Given the description of an element on the screen output the (x, y) to click on. 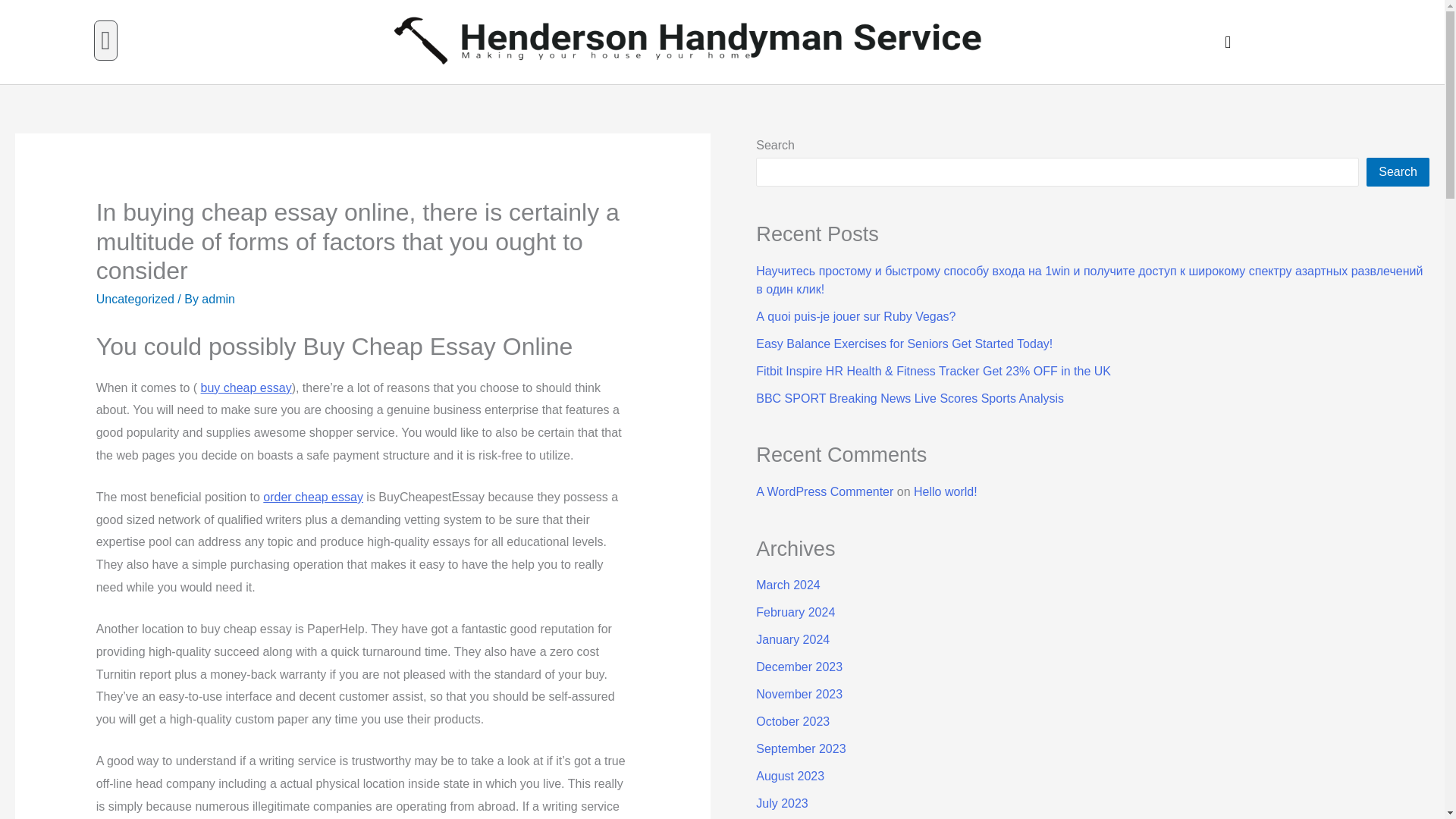
December 2023 (799, 666)
August 2023 (789, 775)
buy cheap essay (246, 387)
Uncategorized (135, 298)
order cheap essay (312, 496)
July 2023 (781, 802)
admin (218, 298)
A WordPress Commenter (824, 491)
BBC SPORT Breaking News Live Scores Sports Analysis (909, 398)
November 2023 (799, 694)
